Given the description of an element on the screen output the (x, y) to click on. 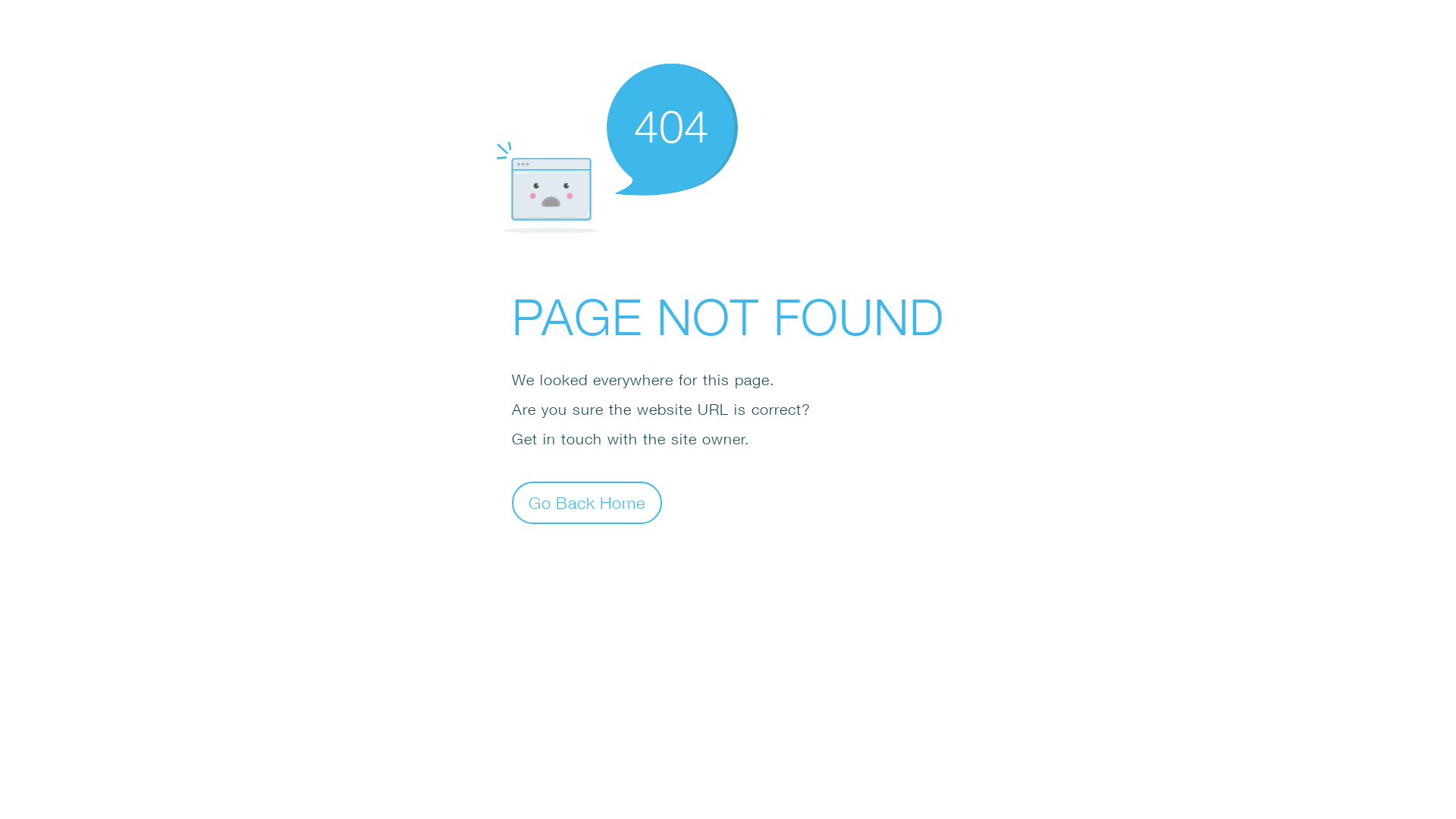
Go Back Home Element type: text (586, 502)
